Given the description of an element on the screen output the (x, y) to click on. 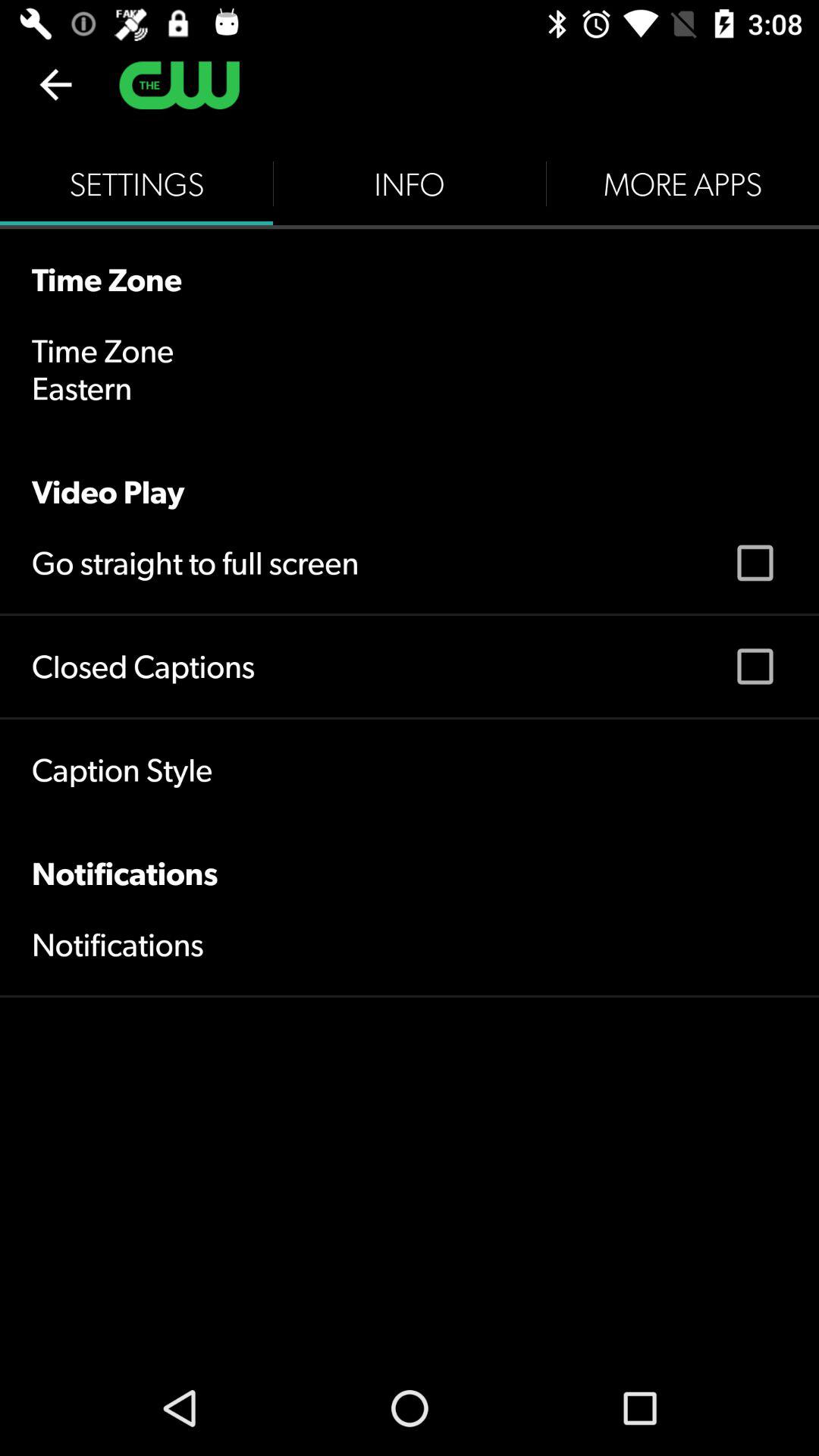
scroll to settings icon (136, 184)
